Given the description of an element on the screen output the (x, y) to click on. 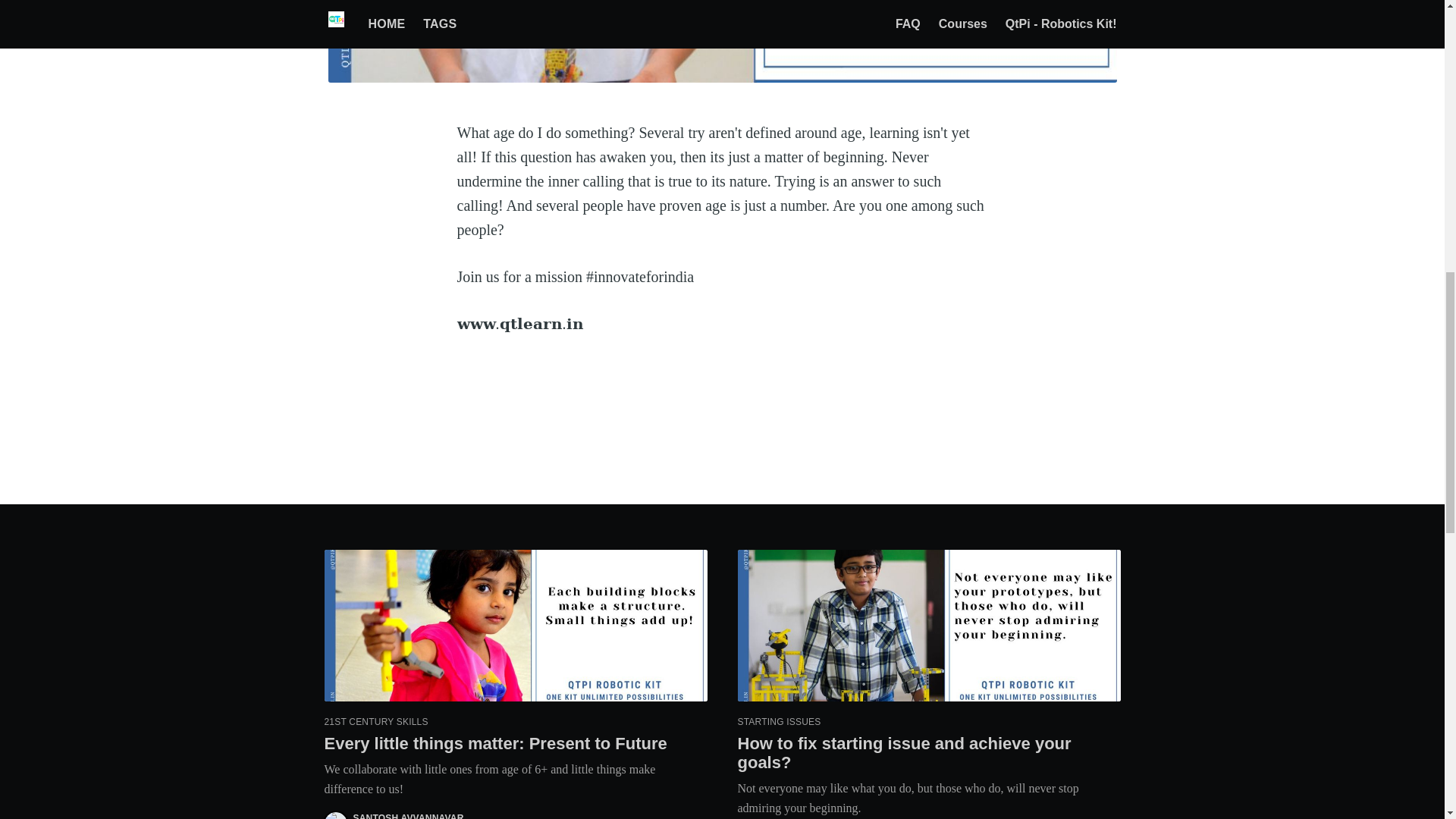
SANTOSH AVVANNAVAR (408, 816)
